Given the description of an element on the screen output the (x, y) to click on. 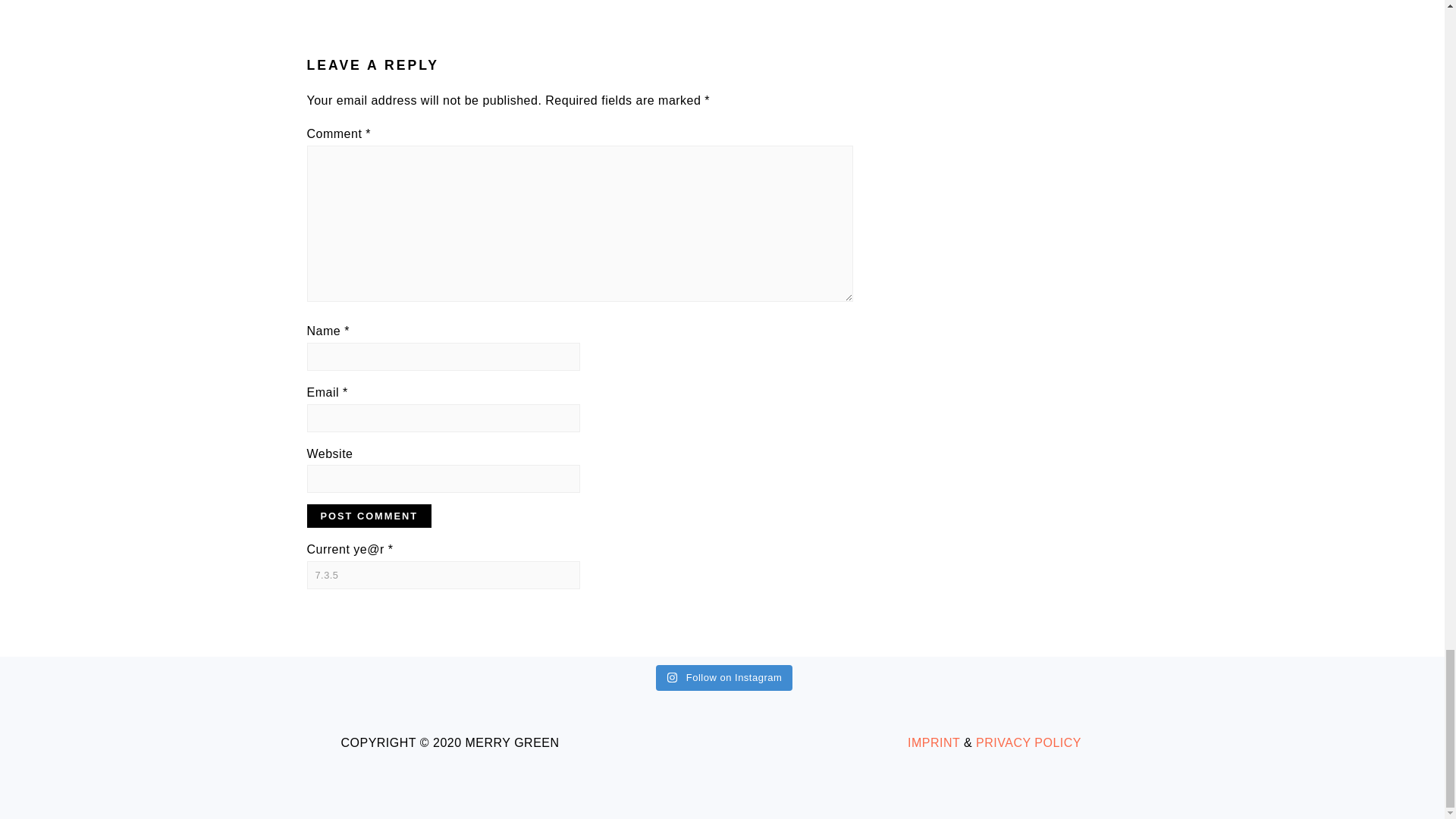
Post Comment (367, 515)
Follow on Instagram (724, 678)
Privacy Policy (1028, 742)
IMPRINT (933, 742)
7.3.5 (442, 574)
PRIVACY POLICY (1028, 742)
Post Comment (367, 515)
Imprint (933, 742)
